Given the description of an element on the screen output the (x, y) to click on. 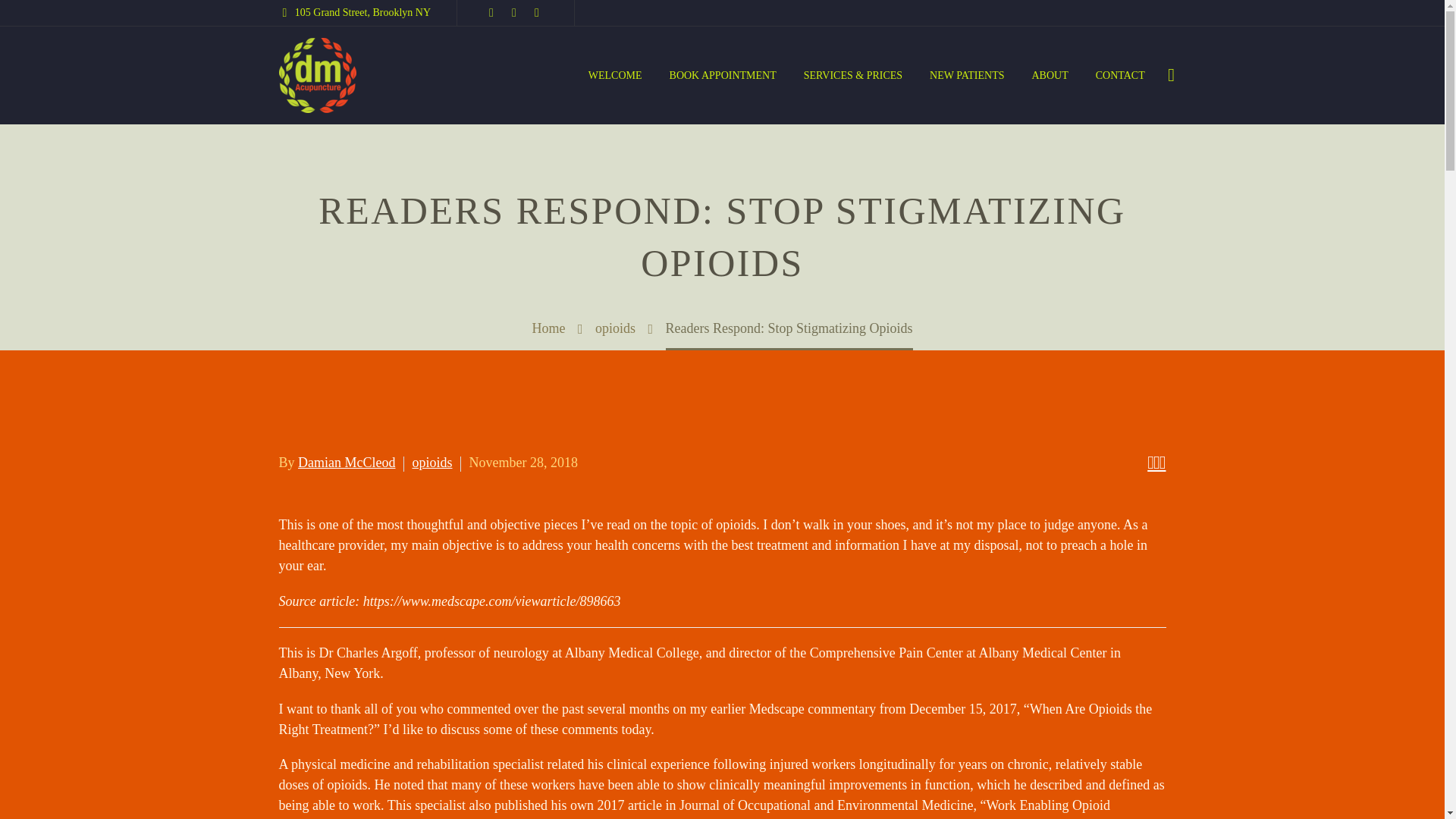
Home (547, 328)
s (1323, 155)
WELCOME (614, 75)
Damian McCleod (346, 462)
View all posts in opioids (432, 462)
Facebook (491, 12)
Instagram (536, 12)
opioids (432, 462)
CONTACT (1120, 75)
ABOUT (1050, 75)
